Given the description of an element on the screen output the (x, y) to click on. 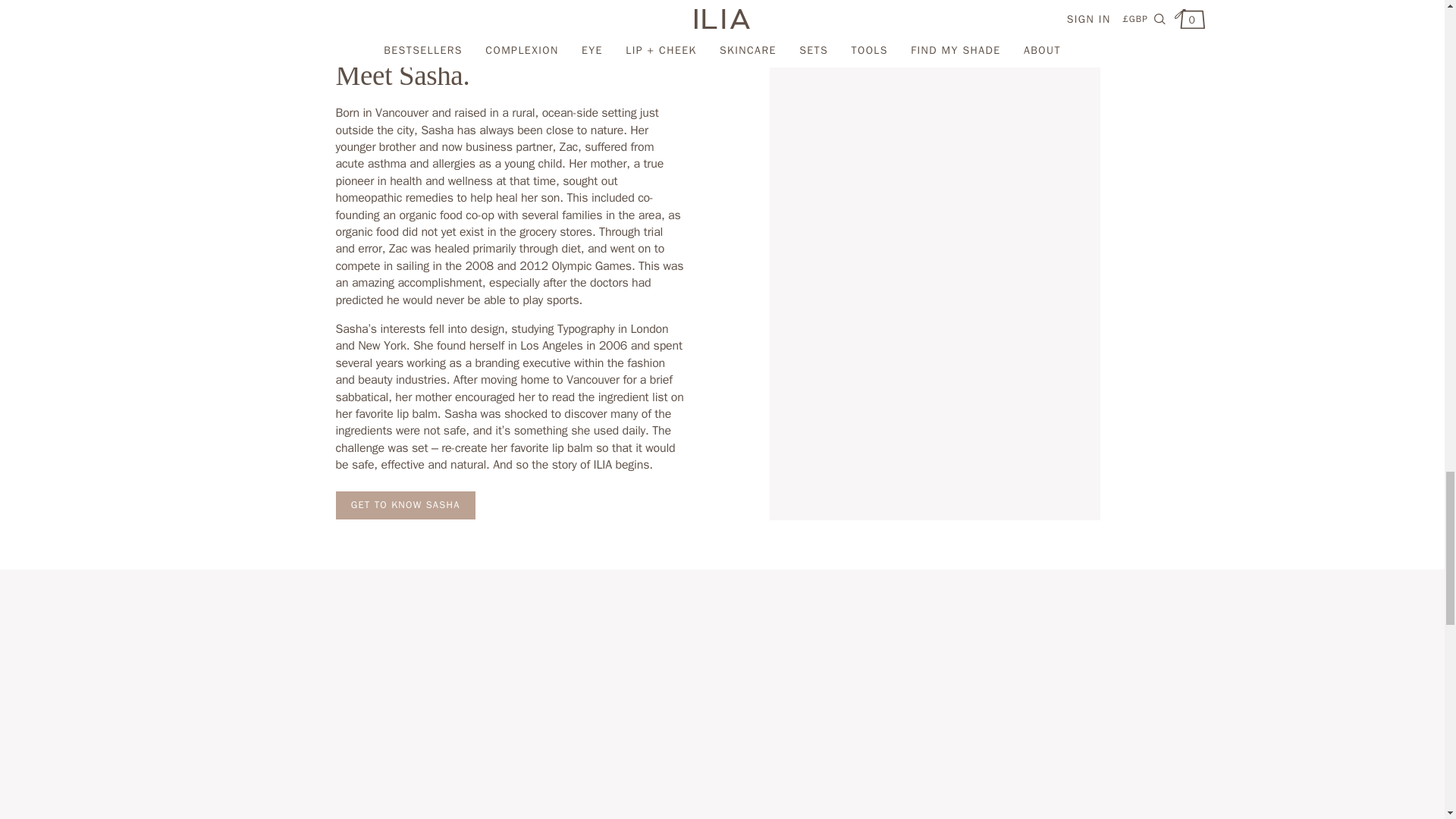
GET TO KNOW SASHA (404, 505)
